Given the description of an element on the screen output the (x, y) to click on. 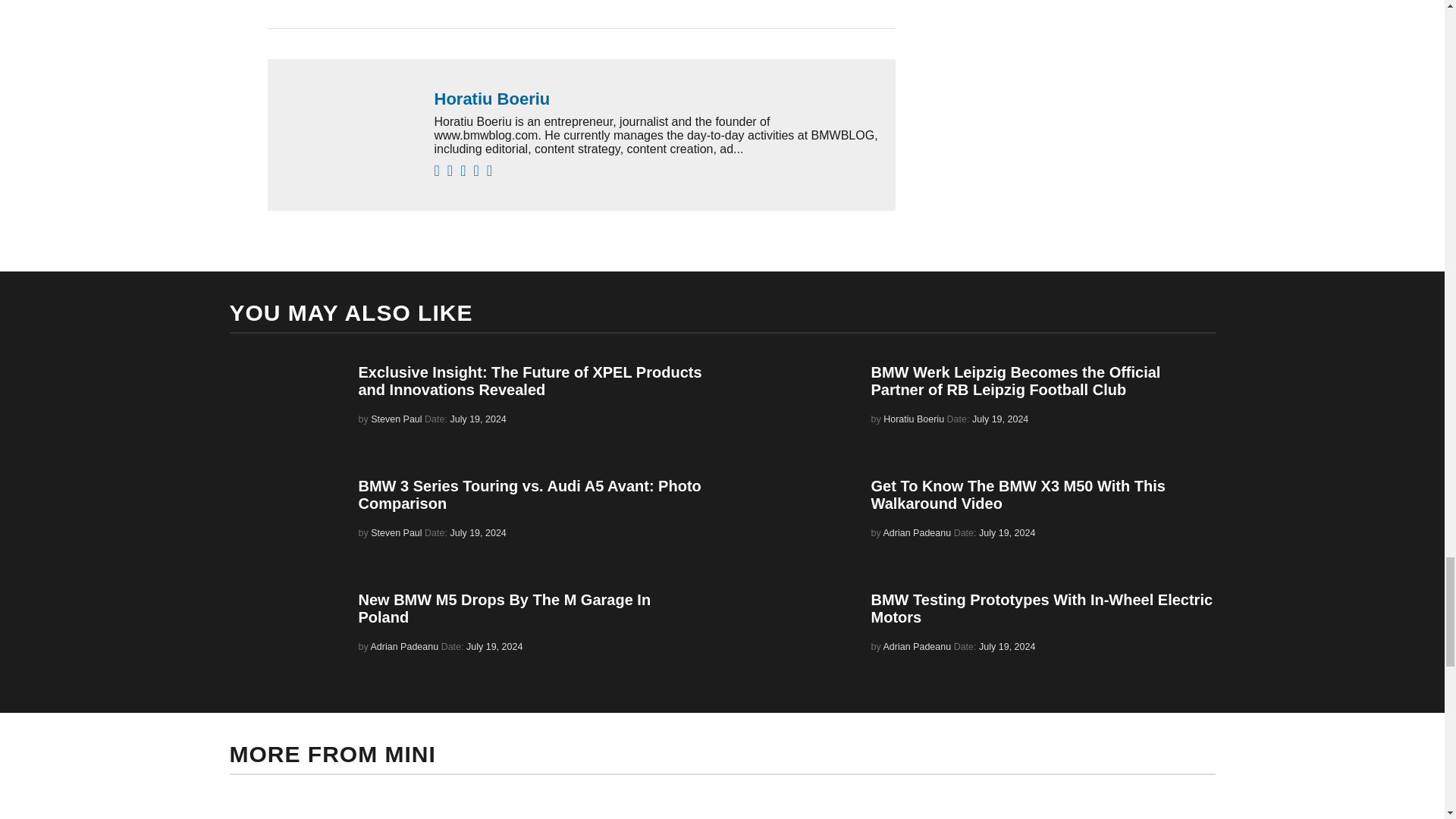
Horatiu Boeriu (656, 98)
